Given the description of an element on the screen output the (x, y) to click on. 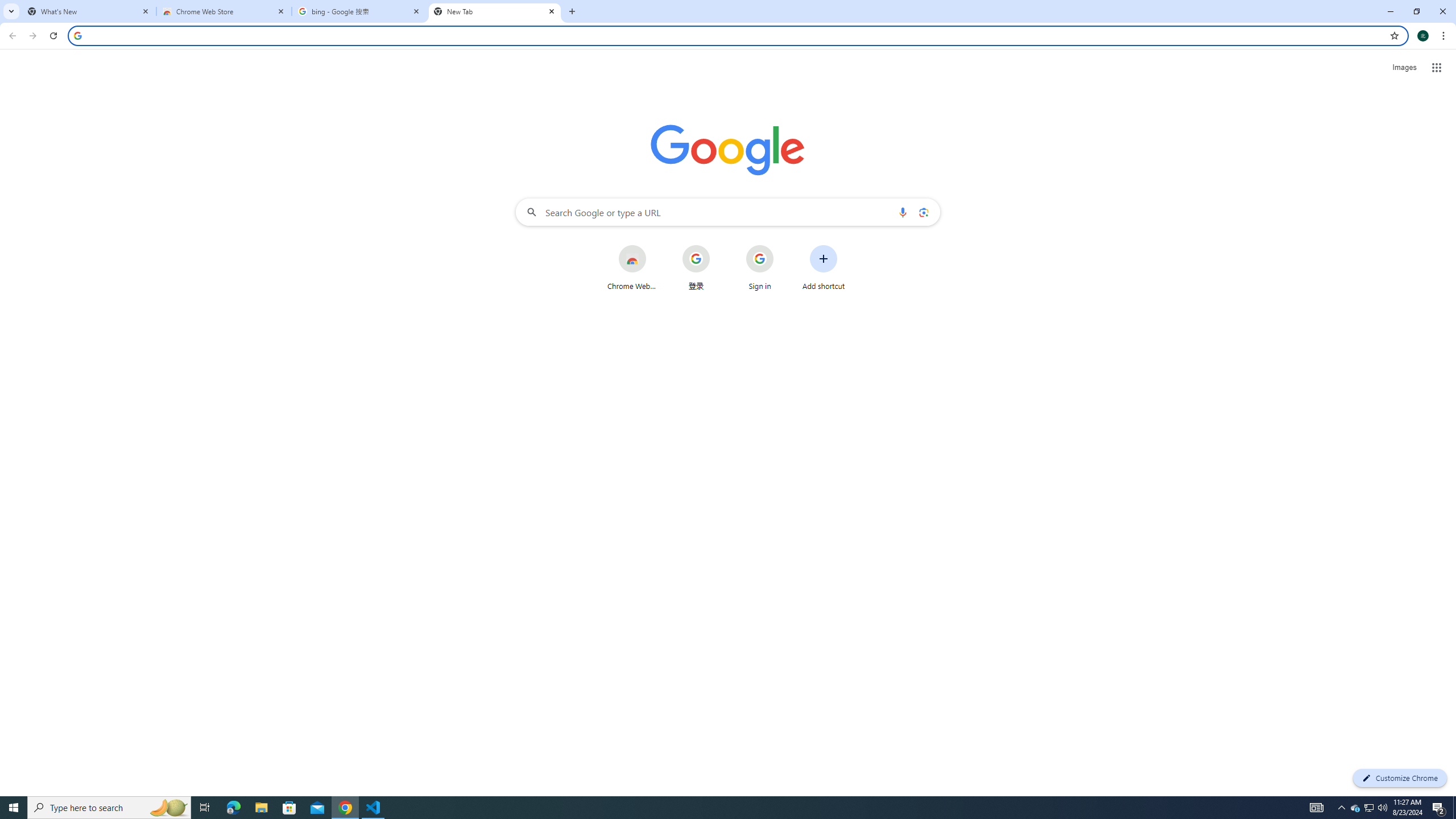
Centered (641, 91)
Word (1010, 91)
Set as Default (1178, 112)
Page Borders... (1382, 92)
Black & White (Capitalized) (335, 91)
Lines (Simple) (765, 91)
